Given the description of an element on the screen output the (x, y) to click on. 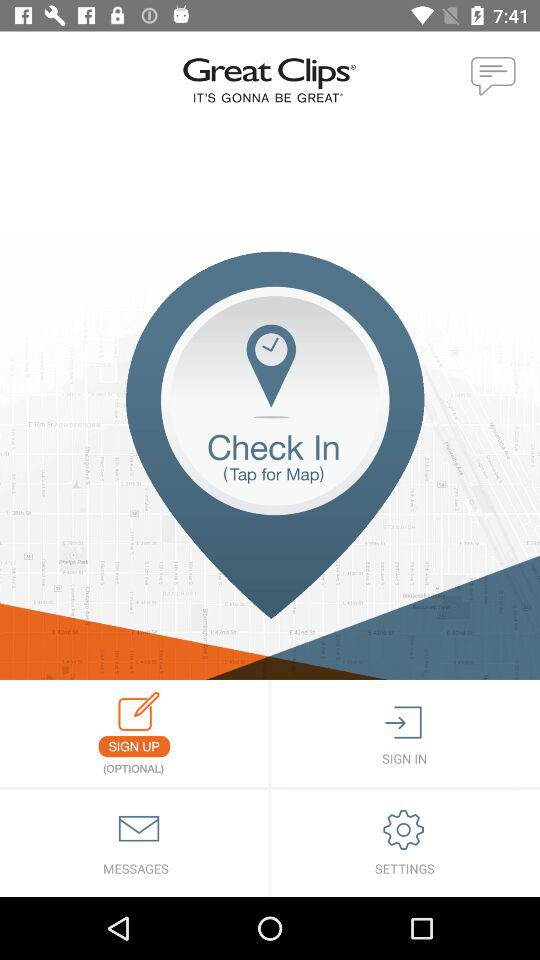
go to settings screen (405, 843)
